Given the description of an element on the screen output the (x, y) to click on. 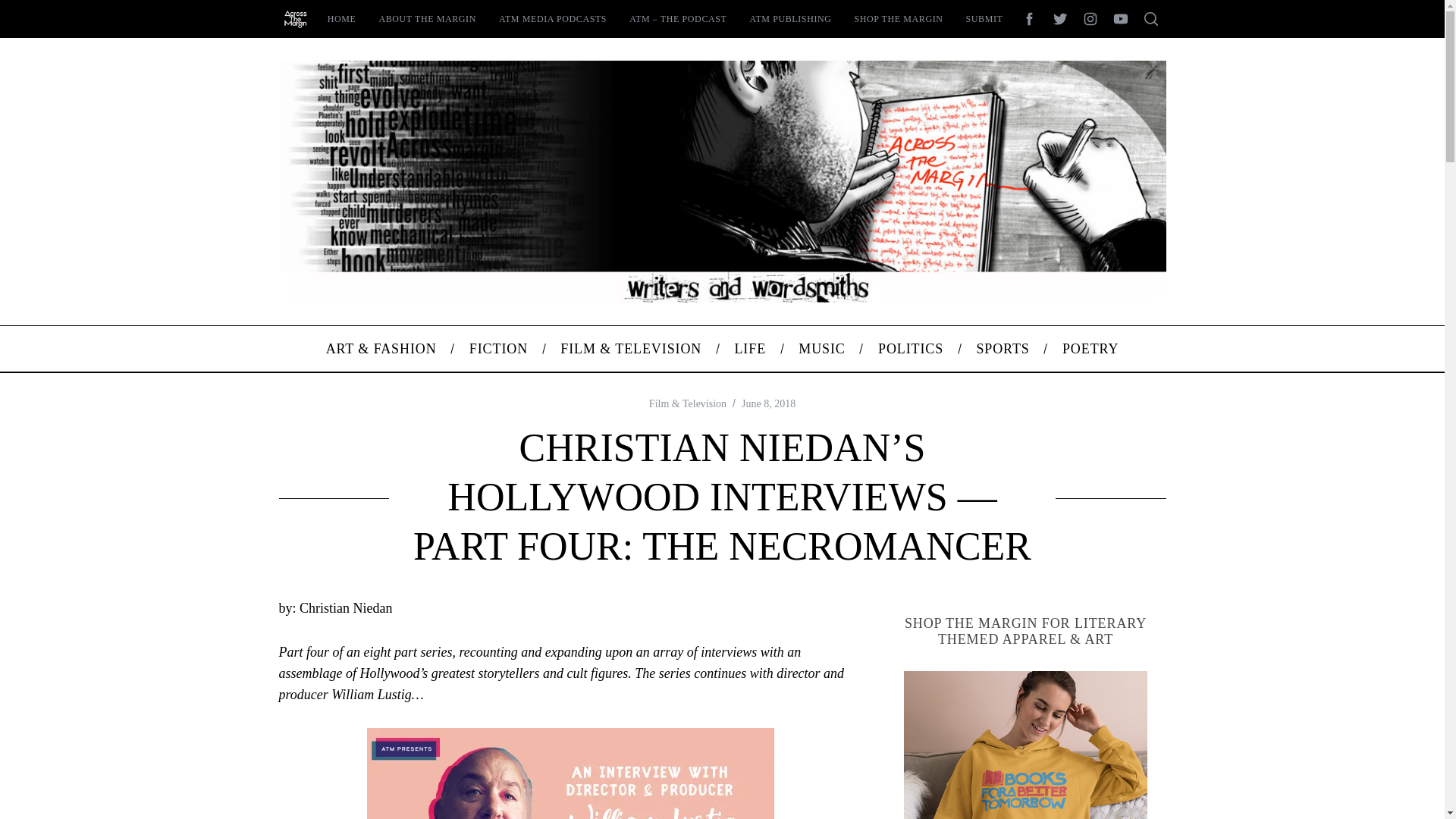
SUBMIT (984, 18)
SHOP THE MARGIN (899, 18)
LIFE (750, 348)
ABOUT THE MARGIN (426, 18)
POLITICS (910, 348)
POETRY (1090, 348)
SHOP THE MARGIN! (1026, 744)
HOME (341, 18)
MUSIC (822, 348)
SPORTS (1002, 348)
